Given the description of an element on the screen output the (x, y) to click on. 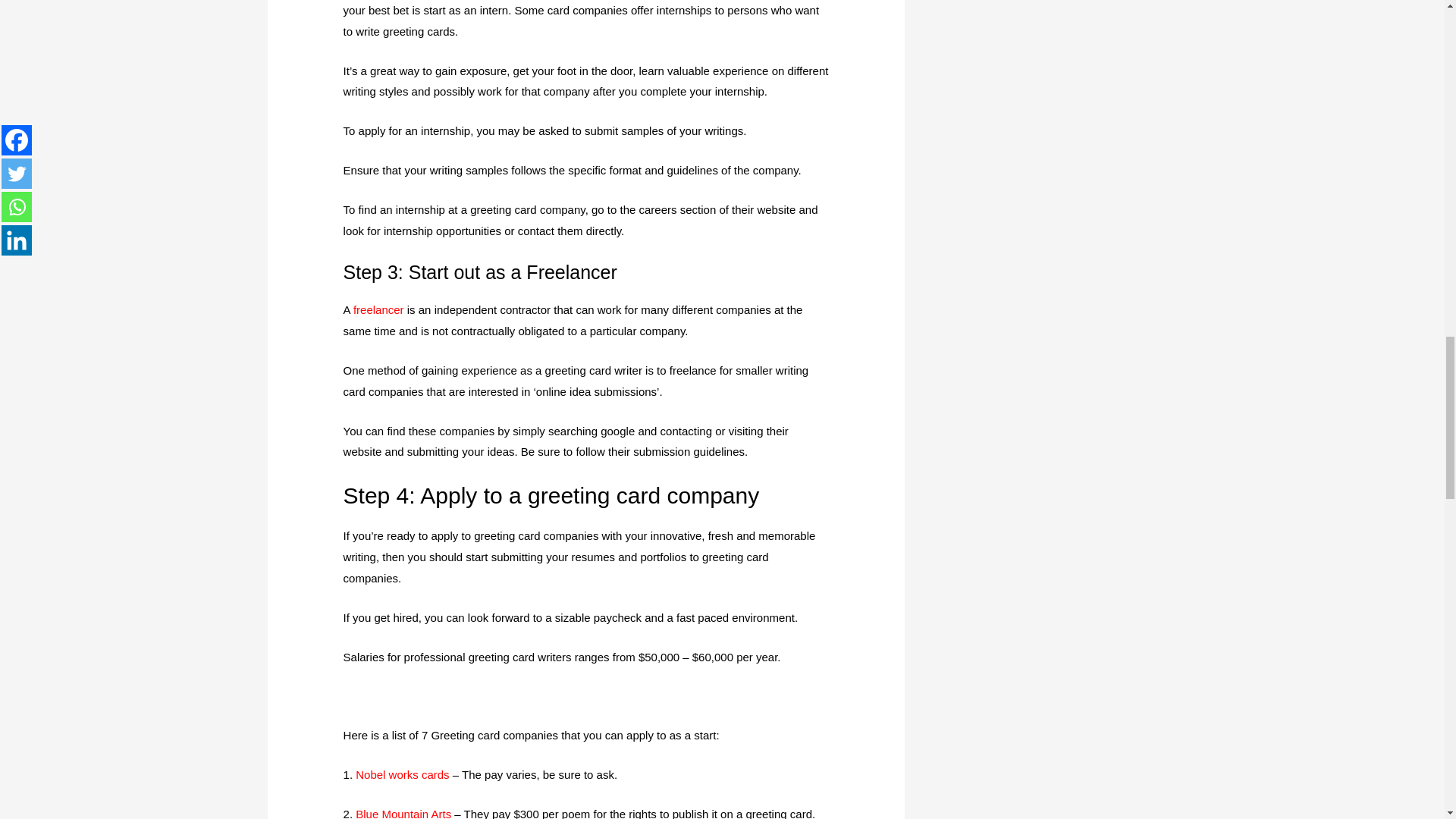
freelancer (378, 309)
Nobel works cards (401, 774)
Blue Mountain Arts (403, 813)
